Given the description of an element on the screen output the (x, y) to click on. 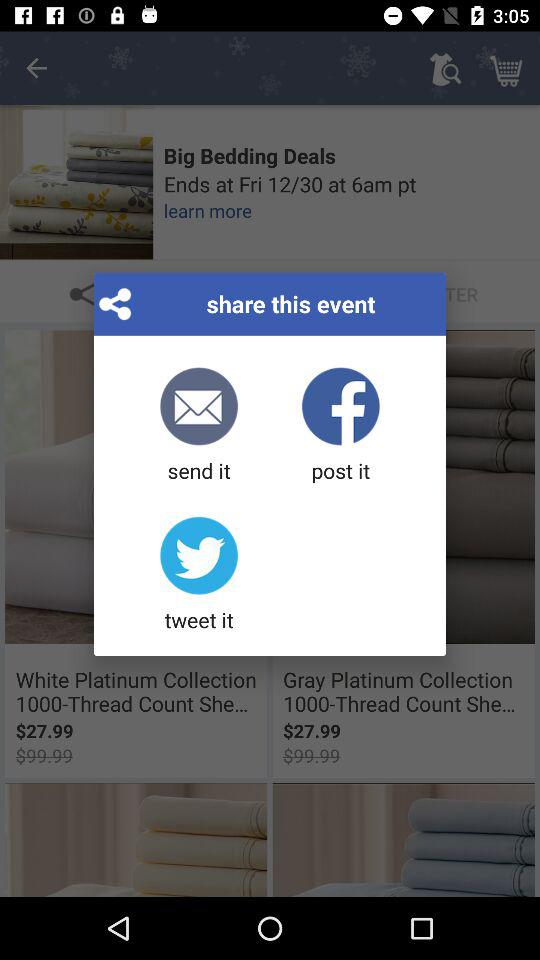
tap the post it item (340, 425)
